Given the description of an element on the screen output the (x, y) to click on. 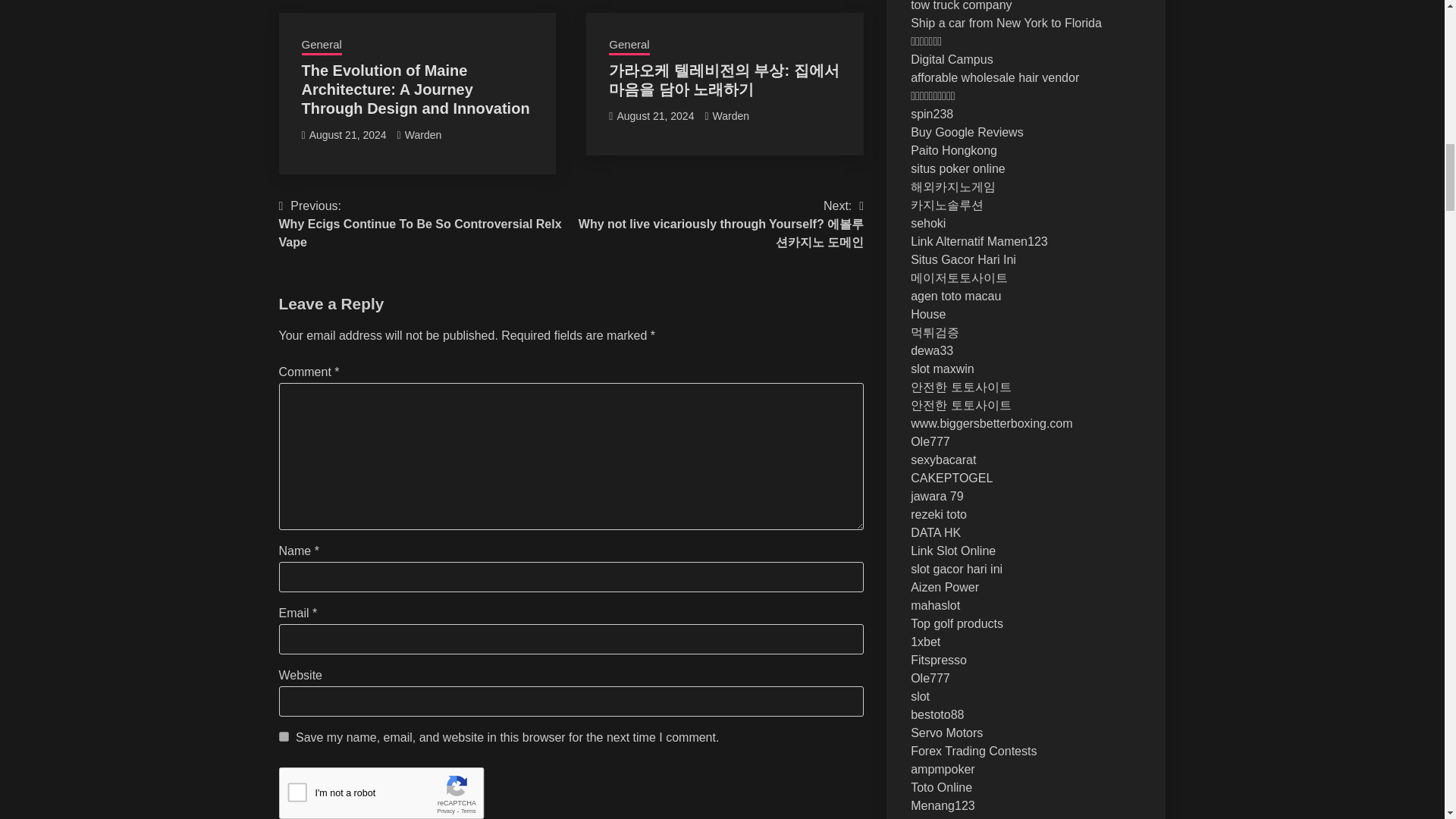
yes (283, 737)
Warden (423, 134)
August 21, 2024 (347, 134)
General (628, 46)
reCAPTCHA (394, 793)
General (321, 46)
Warden (731, 115)
August 21, 2024 (654, 115)
